Given the description of an element on the screen output the (x, y) to click on. 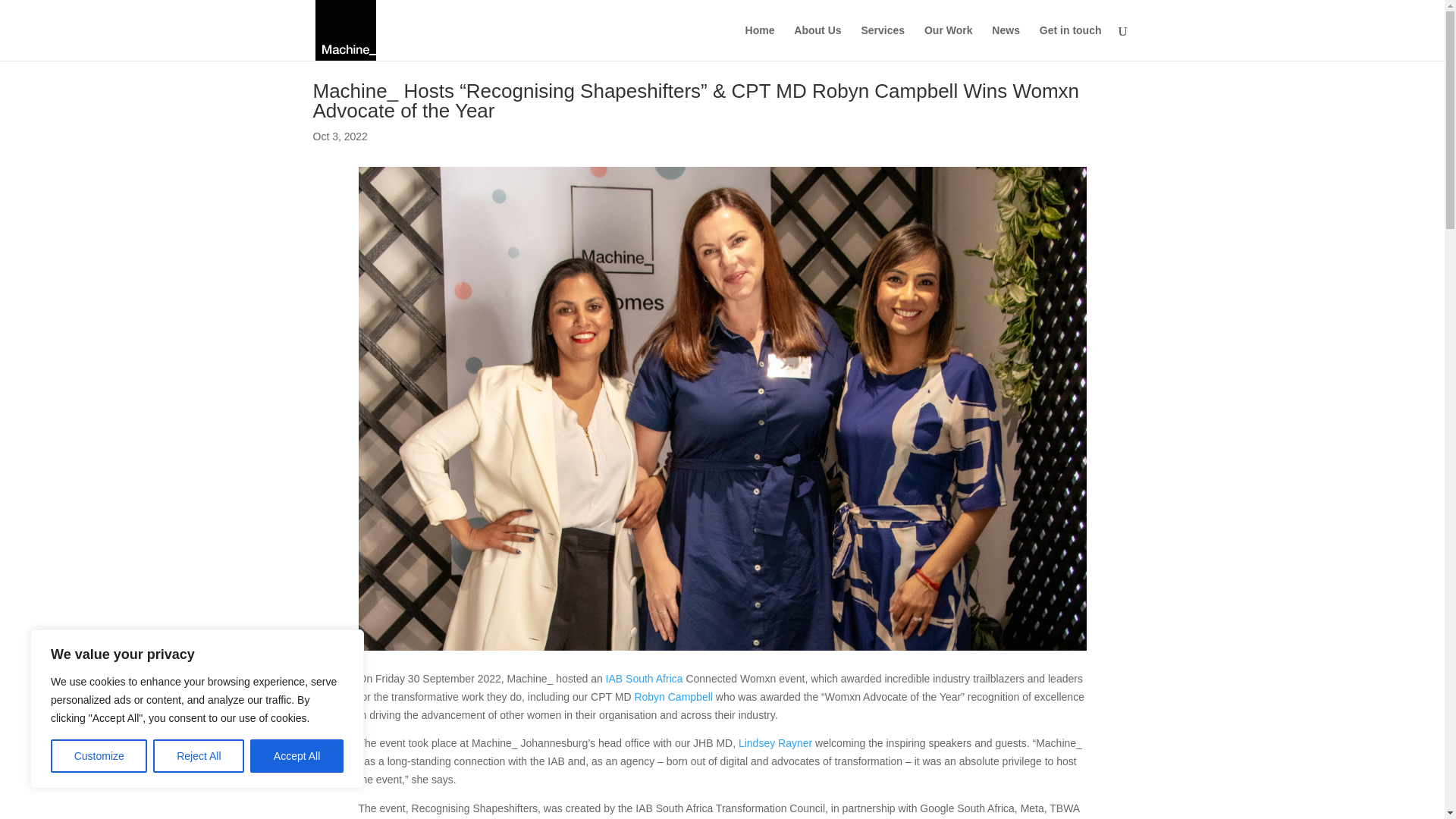
Home (759, 42)
Get in touch (1070, 42)
Robyn Campbell (673, 696)
About Us (817, 42)
Customize (98, 756)
Accept All (296, 756)
Services (882, 42)
IAB South Africa (643, 678)
Reject All (198, 756)
News (1005, 42)
Lindsey Rayner (775, 743)
Our Work (948, 42)
